Given the description of an element on the screen output the (x, y) to click on. 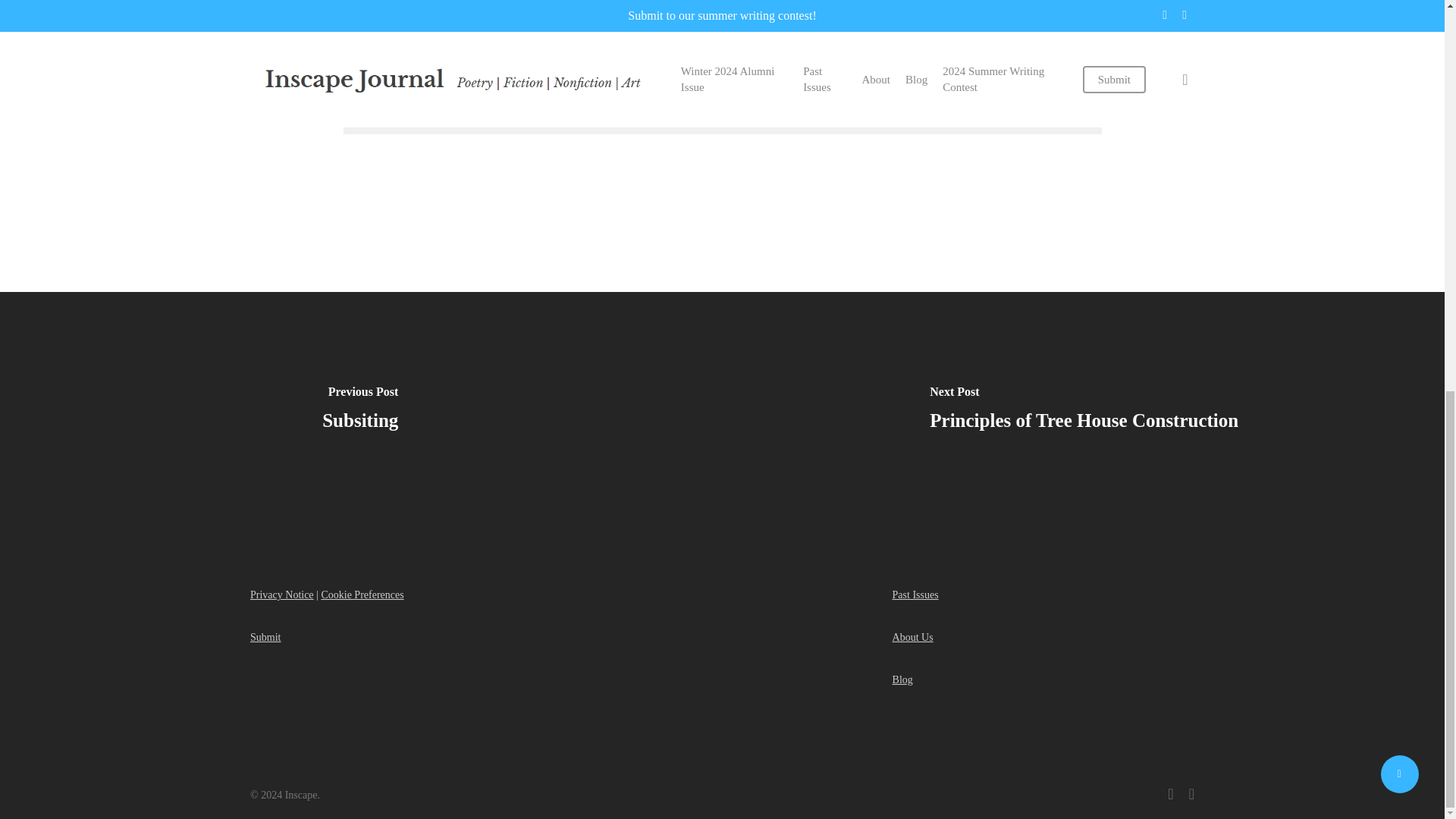
Submit (265, 636)
Cookie Preferences (361, 594)
About Us (912, 636)
Blog (902, 679)
Past Issues (915, 594)
Privacy Notice (282, 594)
